Given the description of an element on the screen output the (x, y) to click on. 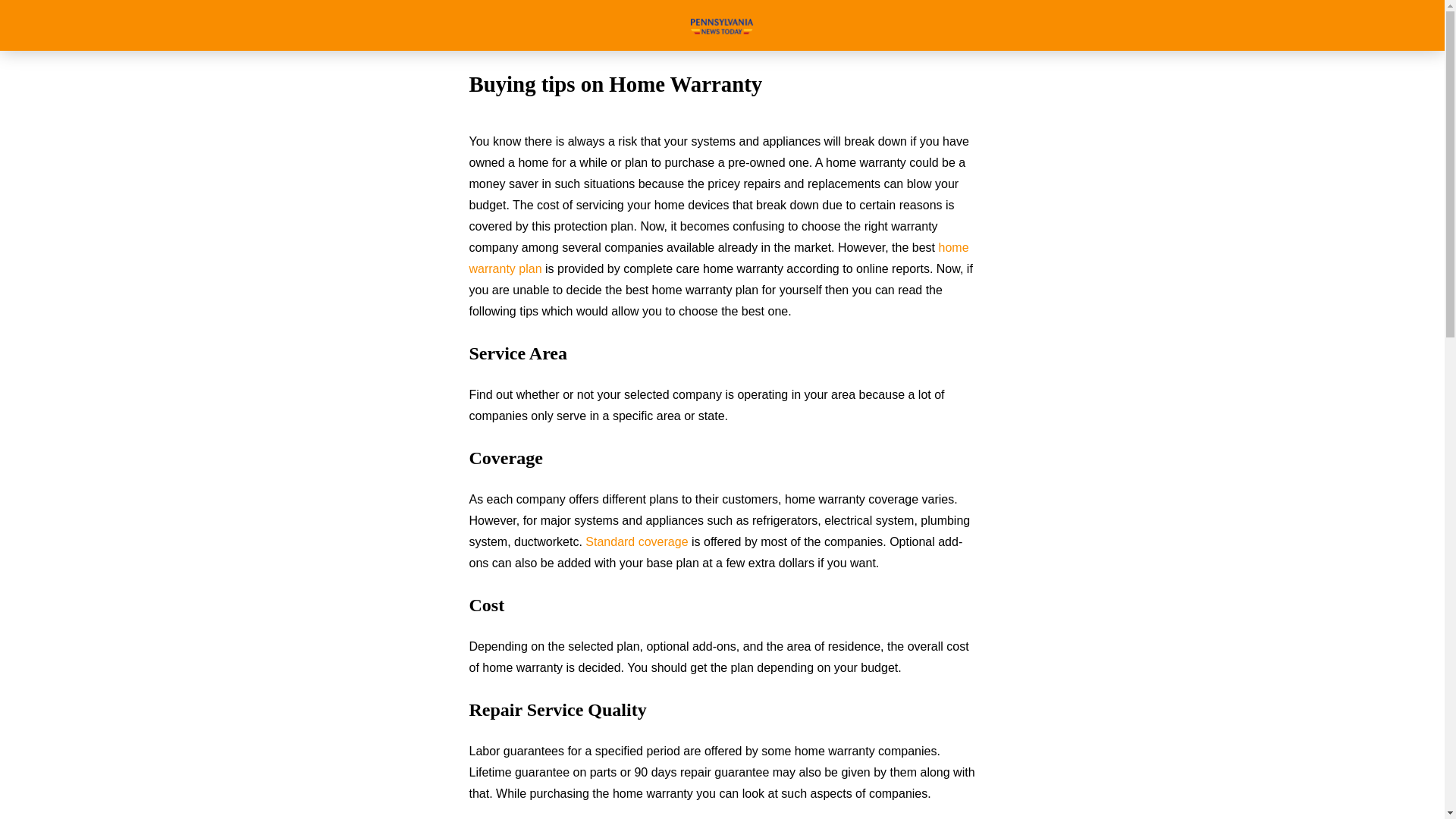
home warranty plan (718, 257)
Pennsylvanianewstoday.com (721, 25)
Standard coverage (636, 541)
